Given the description of an element on the screen output the (x, y) to click on. 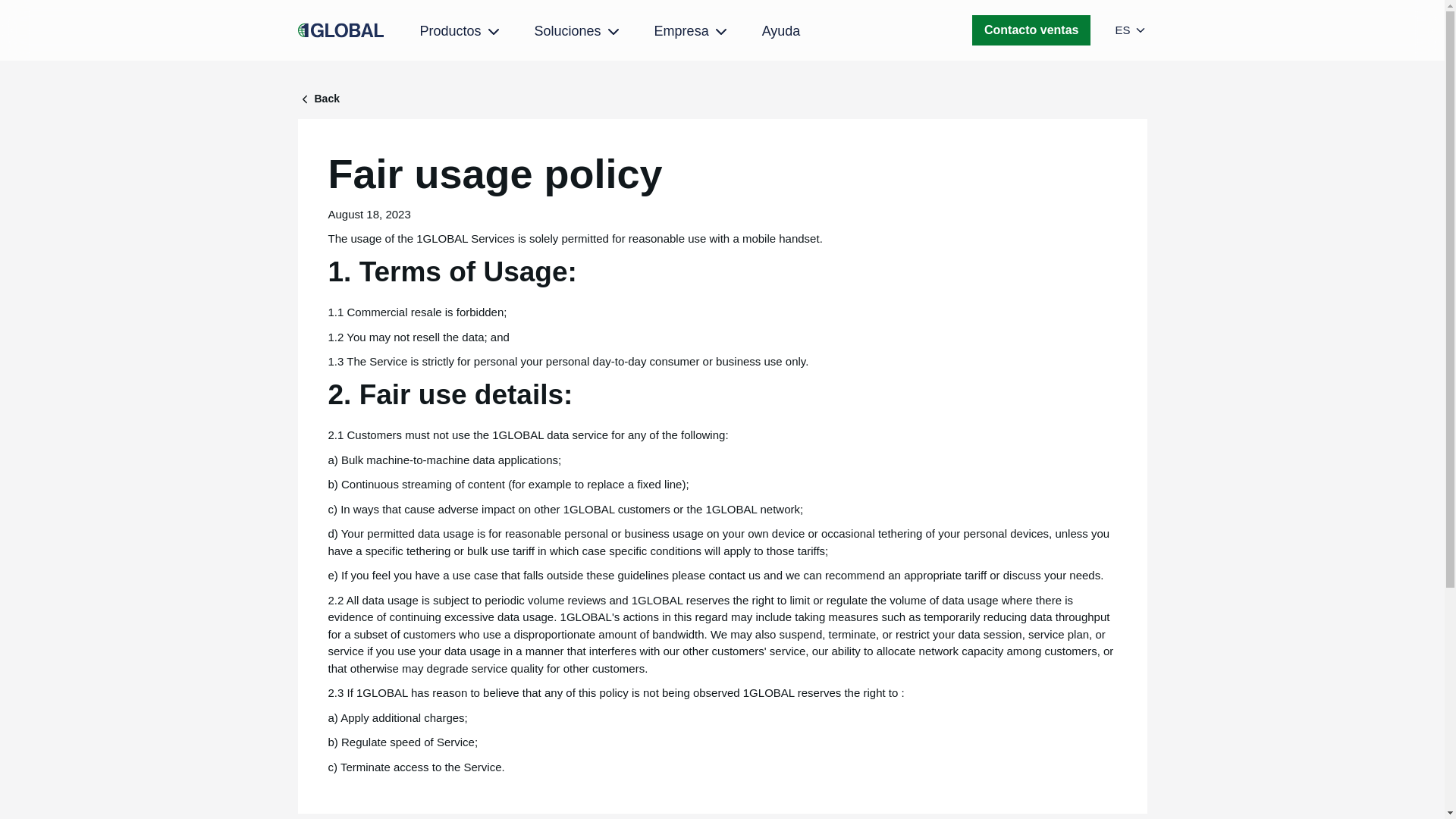
Empresa (691, 31)
Contacto ventas (1031, 30)
Productos (461, 31)
Ayuda (780, 30)
ES (1131, 30)
Ayuda (780, 30)
Back (722, 98)
Soluciones (578, 31)
